Given the description of an element on the screen output the (x, y) to click on. 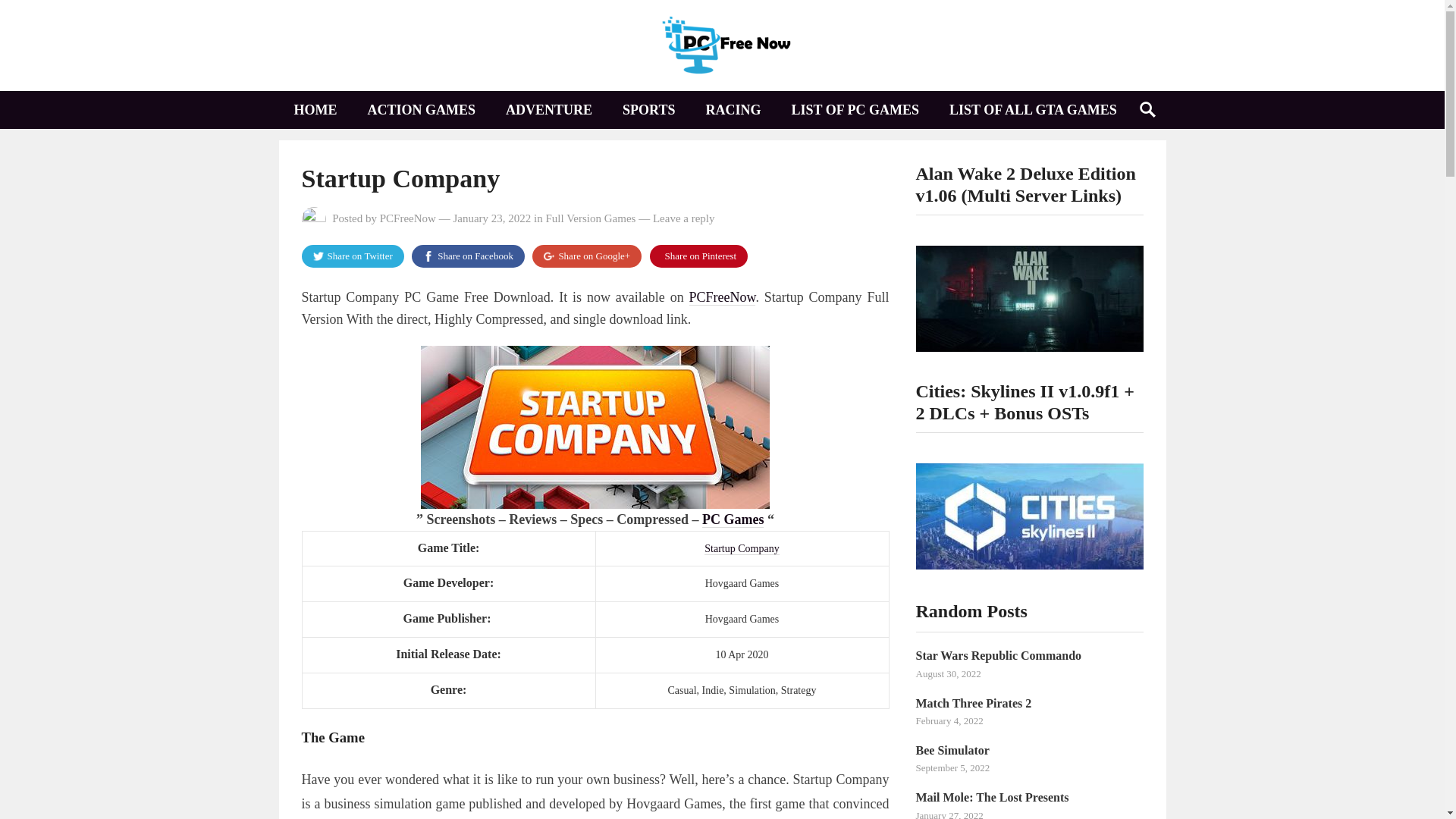
Full Version Games (591, 218)
LIST OF ALL GTA GAMES (1033, 109)
RACING (733, 109)
Posts by PCFreeNow (407, 218)
ACTION GAMES (421, 109)
Startup Company (741, 548)
LIST OF PC GAMES (855, 109)
HOME (315, 109)
Leave a reply (683, 218)
PCFreeNow (721, 297)
Share on Twitter (352, 255)
SPORTS (648, 109)
ADVENTURE (548, 109)
View all posts in Full Version Games (591, 218)
Share on Facebook (468, 255)
